Given the description of an element on the screen output the (x, y) to click on. 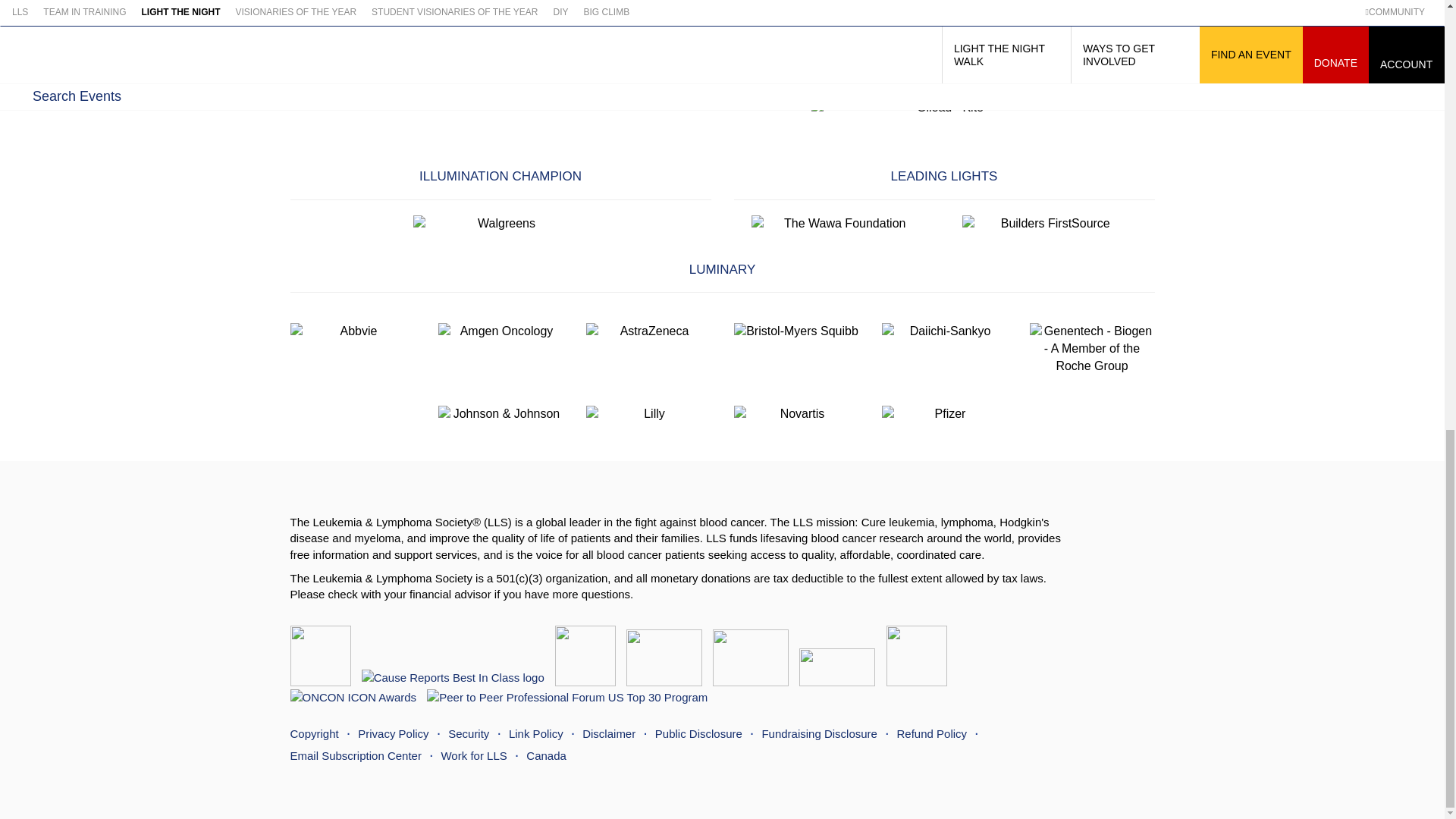
Amgen Oncology (500, 331)
Builders FirstSource (1049, 223)
Wawa (838, 223)
Bristol-Myers Squibb (796, 331)
Daiichi-Sankyo (943, 331)
Pfizer (943, 414)
Genentech - Biogen - A Member of the Roche Group (1091, 348)
AstraZeneca (647, 331)
Abbvie (351, 331)
Gilead - Kite (943, 108)
